Given the description of an element on the screen output the (x, y) to click on. 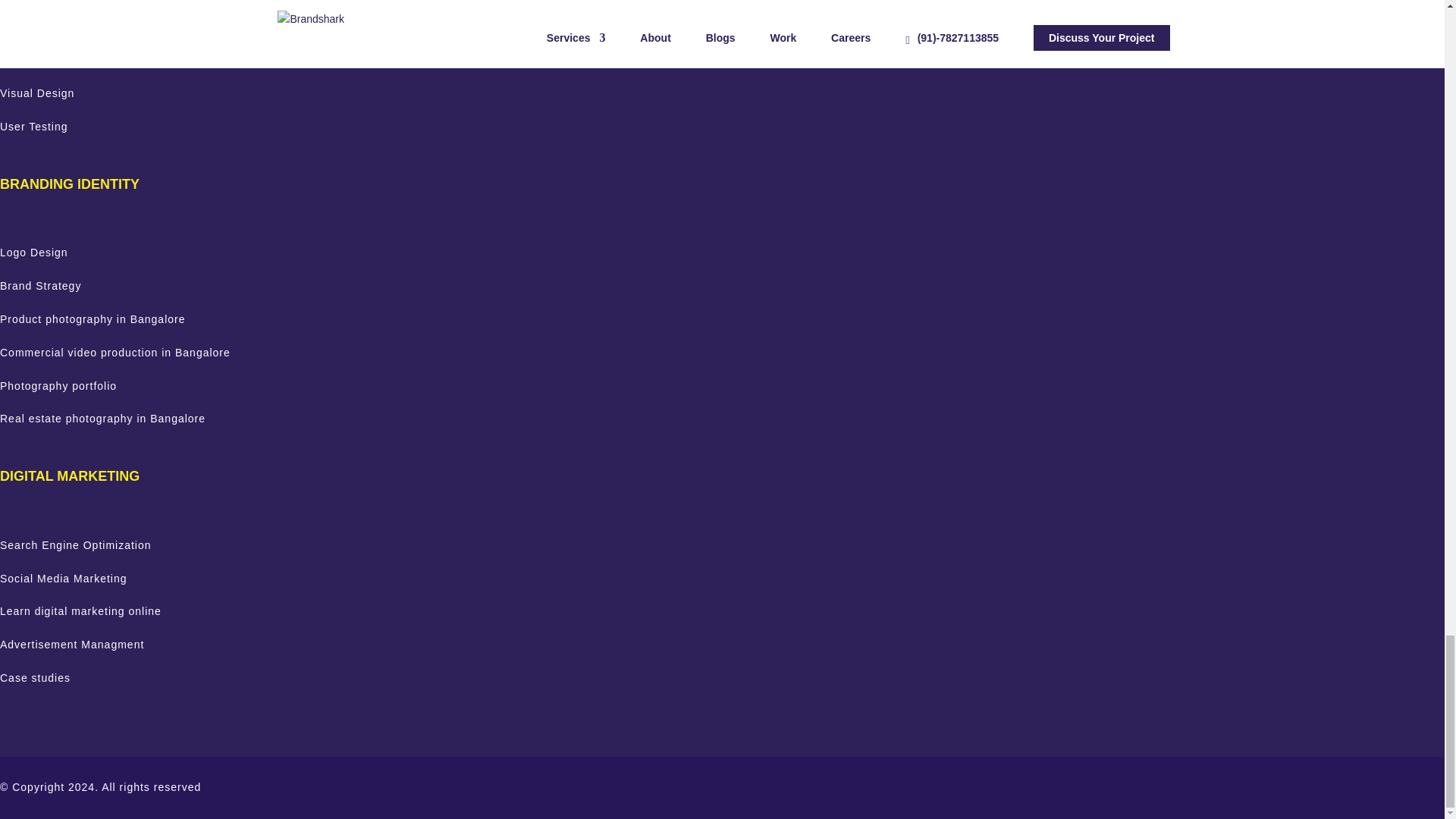
Learn digital marketing online (80, 611)
